Given the description of an element on the screen output the (x, y) to click on. 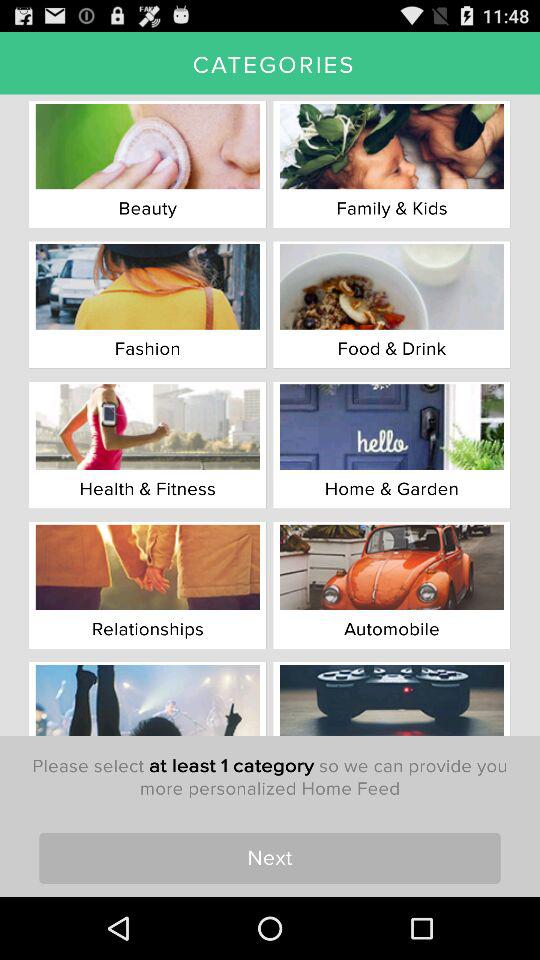
launch the item below the please select at icon (269, 857)
